Given the description of an element on the screen output the (x, y) to click on. 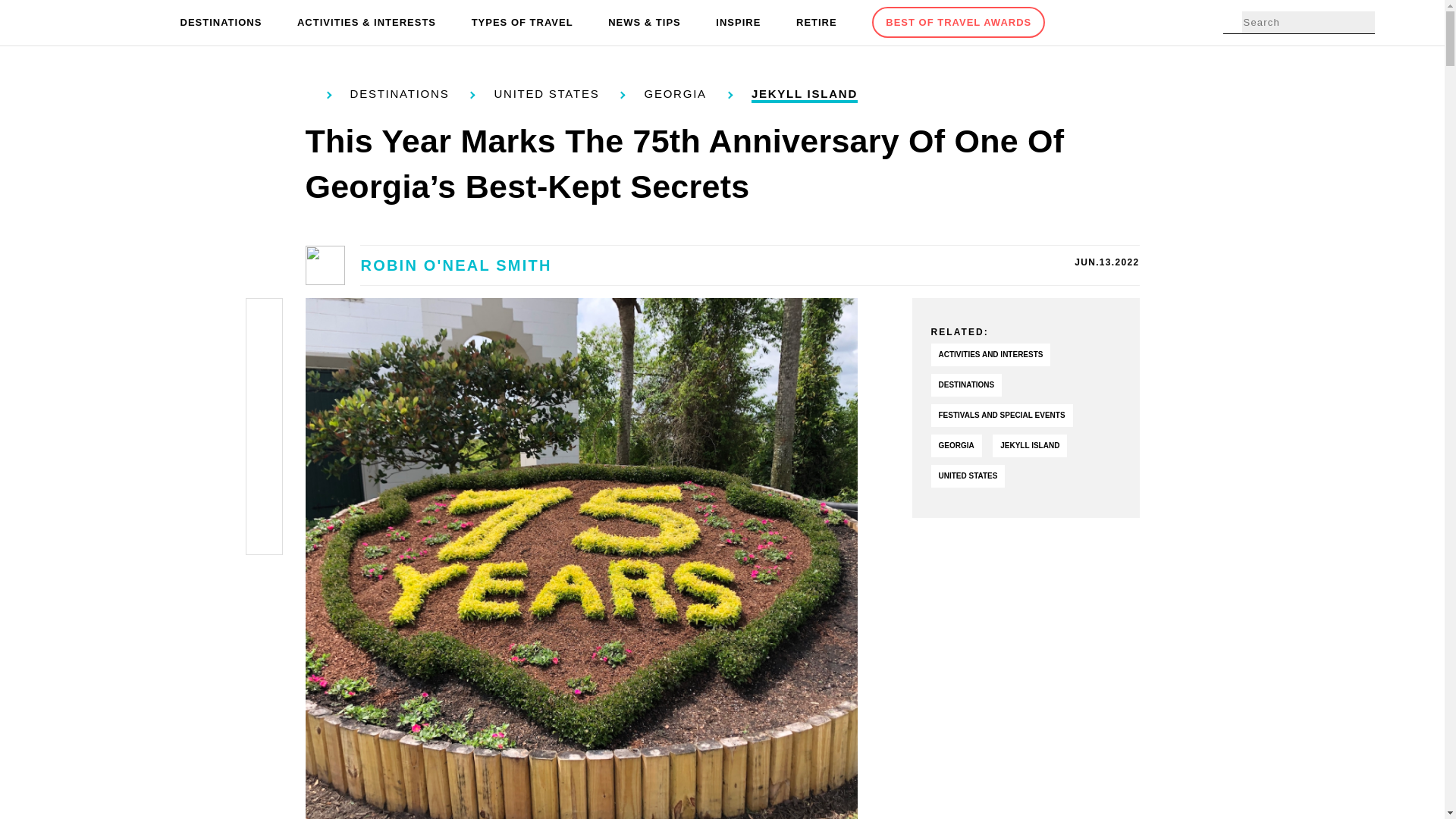
Flipboard (263, 462)
Pinterest (263, 391)
Email (263, 533)
TYPES OF TRAVEL (522, 22)
Facebook (263, 320)
TravelAwaits (107, 22)
Print (263, 497)
DESTINATIONS (221, 22)
Instagram (263, 426)
